Given the description of an element on the screen output the (x, y) to click on. 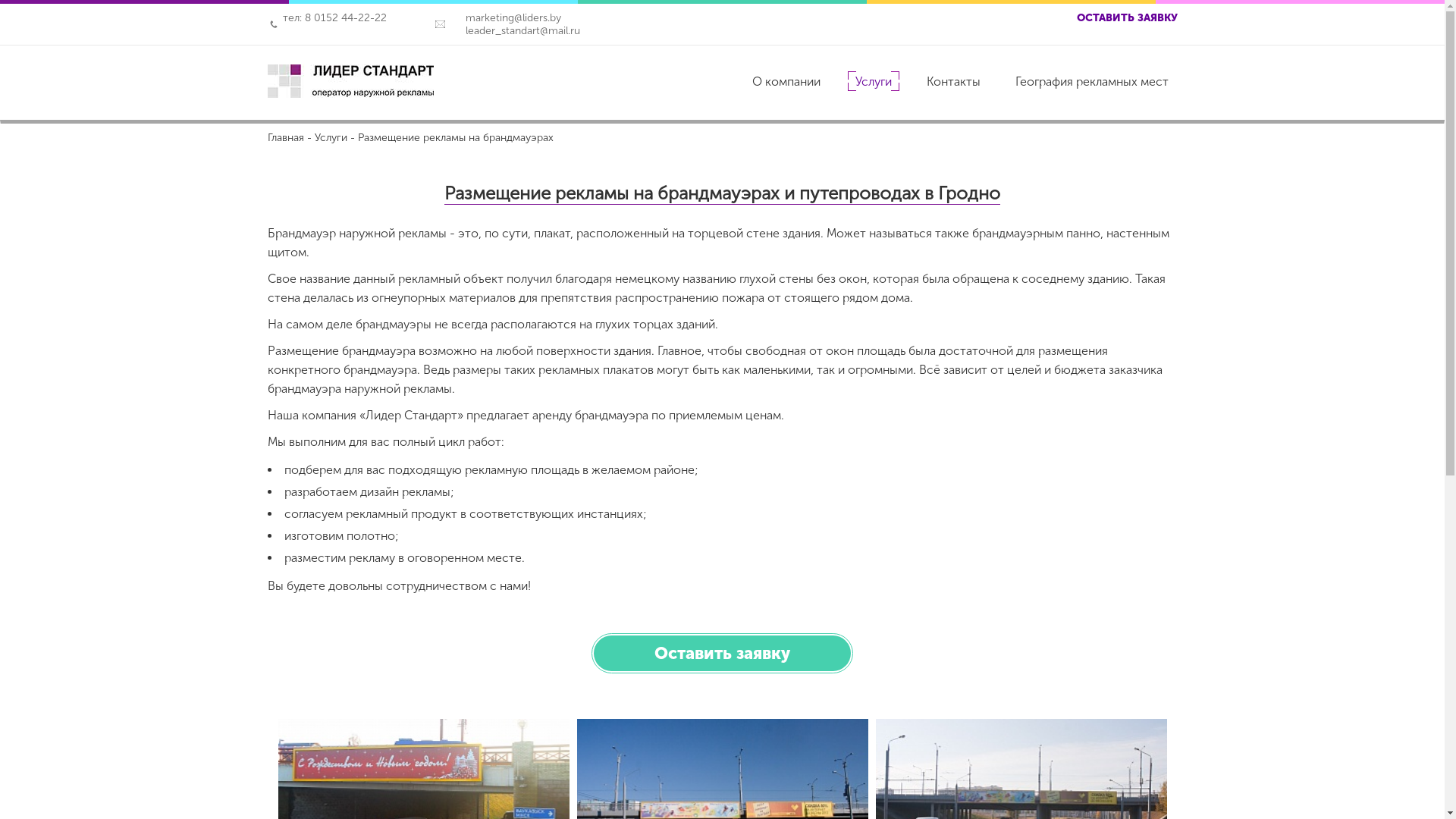
leader_standart@mail.ru Element type: text (515, 30)
marketing@liders.by Element type: text (505, 17)
